Given the description of an element on the screen output the (x, y) to click on. 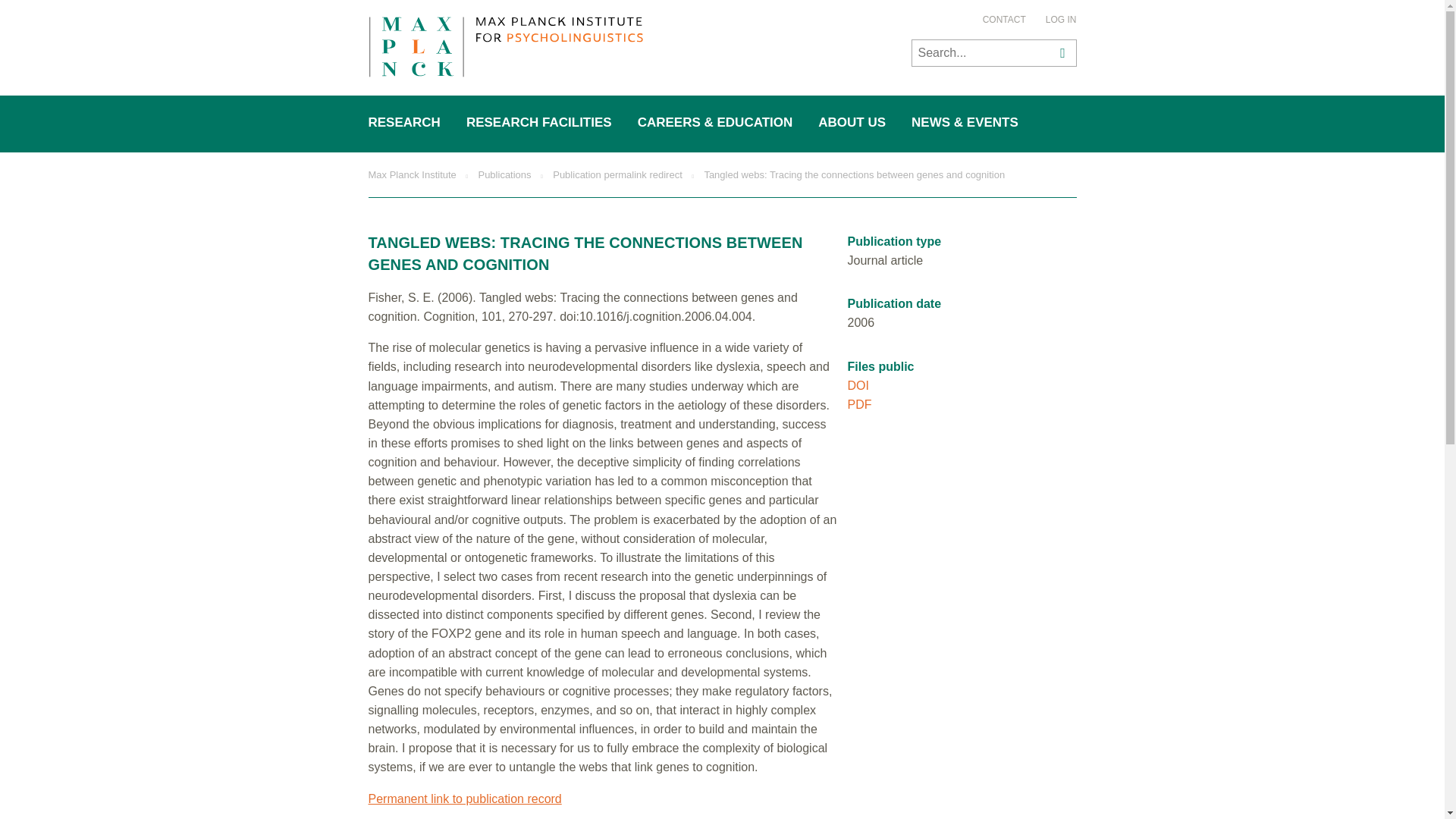
CONTACT (1004, 19)
Search (1060, 52)
Search (1060, 52)
Permanent link to publication record (465, 797)
DOI (858, 385)
Publications (504, 174)
ABOUT US (851, 122)
Publication permalink redirect (617, 174)
